Given the description of an element on the screen output the (x, y) to click on. 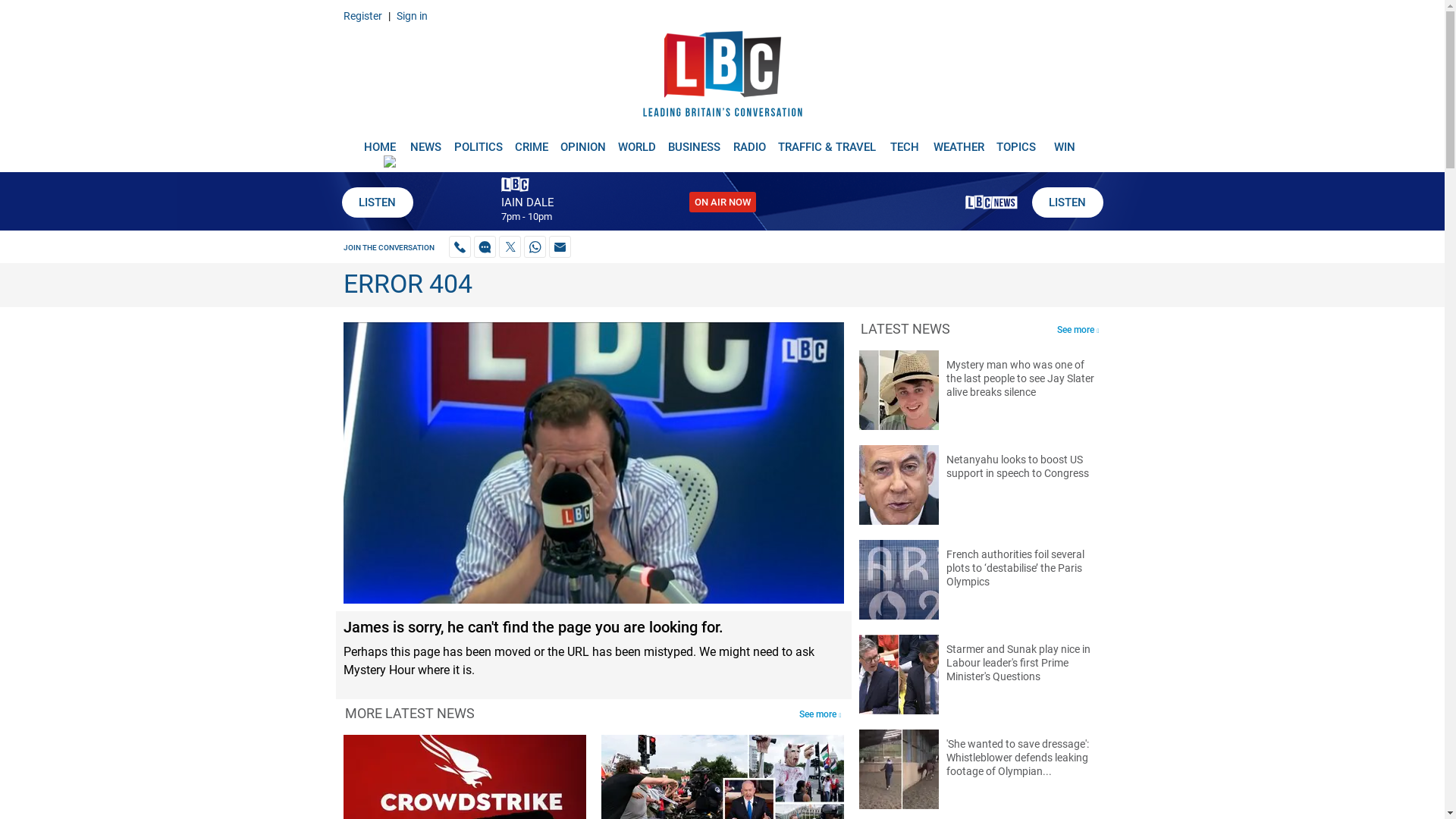
See more (818, 714)
LBC (722, 77)
Register (361, 15)
WORLD (636, 140)
LISTEN (1066, 202)
LISTEN (376, 202)
MORE LATEST NEWS (408, 713)
Sign in (411, 15)
POLITICS (478, 140)
NEWS (425, 140)
TECH (904, 140)
WIN (1064, 140)
BUSINESS (694, 140)
WEATHER (958, 140)
RADIO (748, 140)
